Given the description of an element on the screen output the (x, y) to click on. 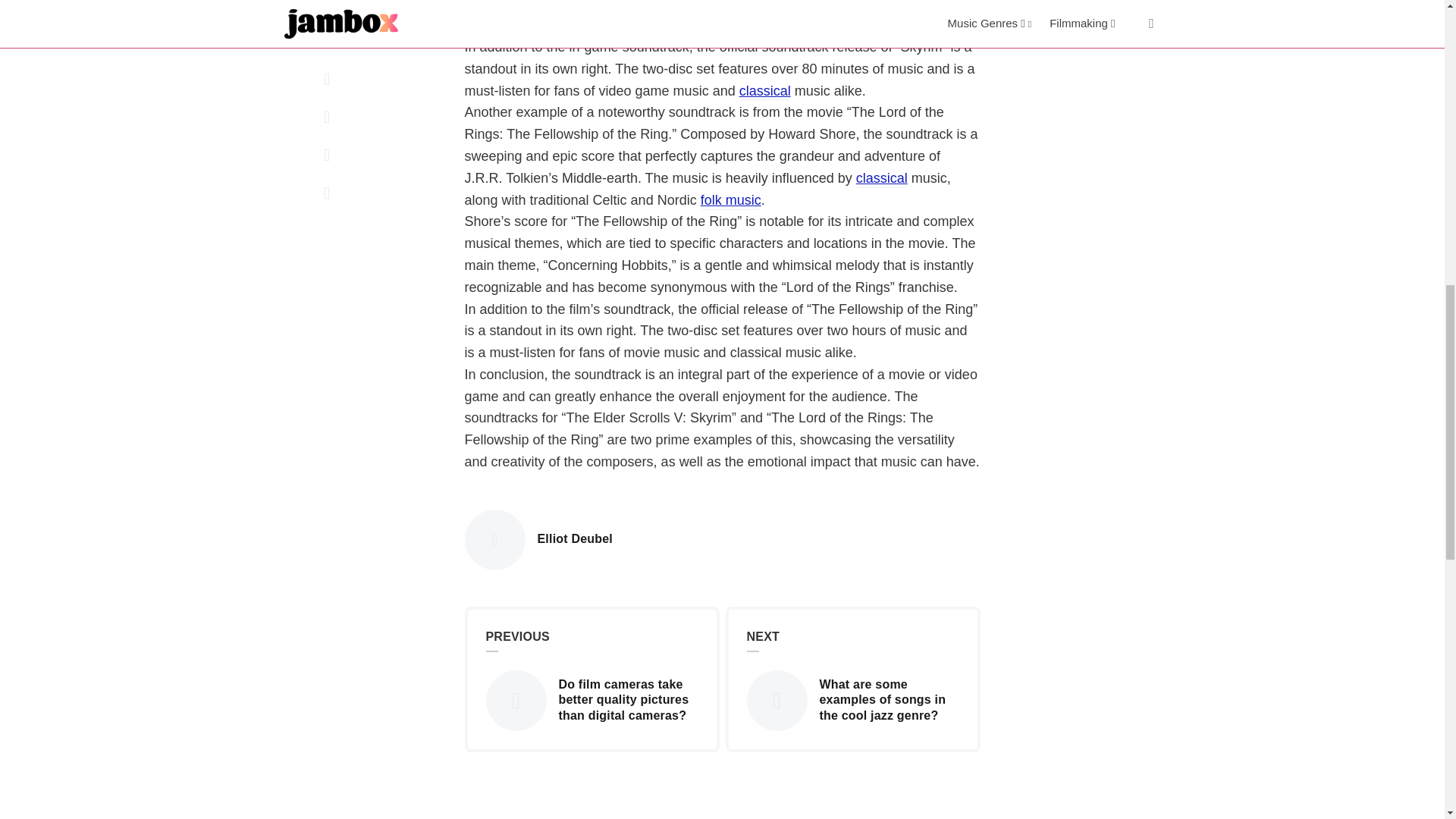
4540 what are some examples of songs in the cool jazz genre (774, 699)
folk music (730, 200)
classical (574, 539)
classical (881, 179)
What are some examples of songs in the cool jazz genre? (764, 91)
